Given the description of an element on the screen output the (x, y) to click on. 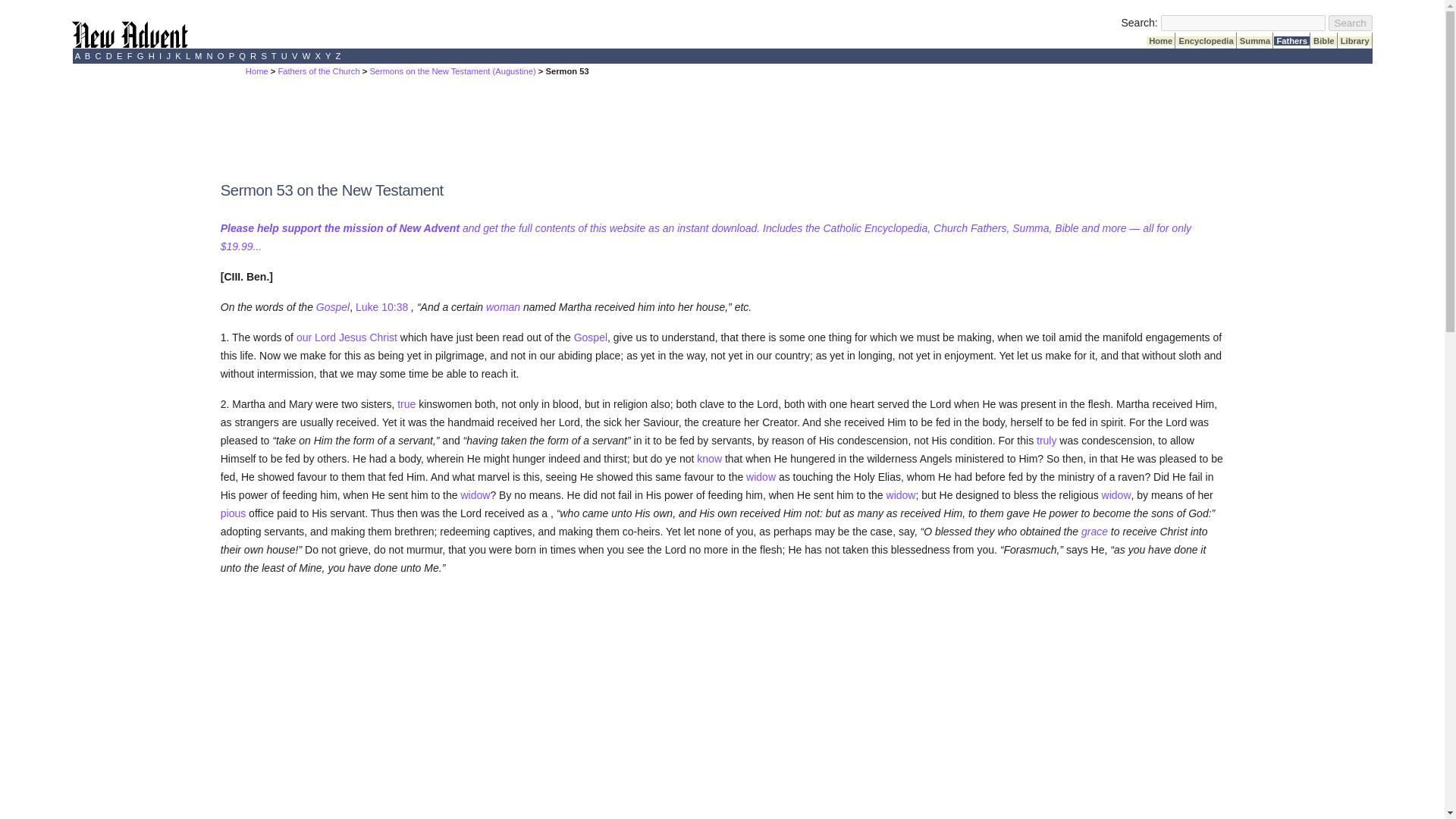
 Q  (241, 55)
 Y  (328, 55)
 M  (198, 55)
 L  (187, 55)
 W  (306, 55)
 K  (178, 55)
 S  (264, 55)
 Summa  (1254, 40)
Gospel (332, 306)
 Bible  (1323, 40)
 J  (168, 55)
 C  (98, 55)
 Fathers  (1291, 40)
Home (256, 71)
 N  (208, 55)
